Given the description of an element on the screen output the (x, y) to click on. 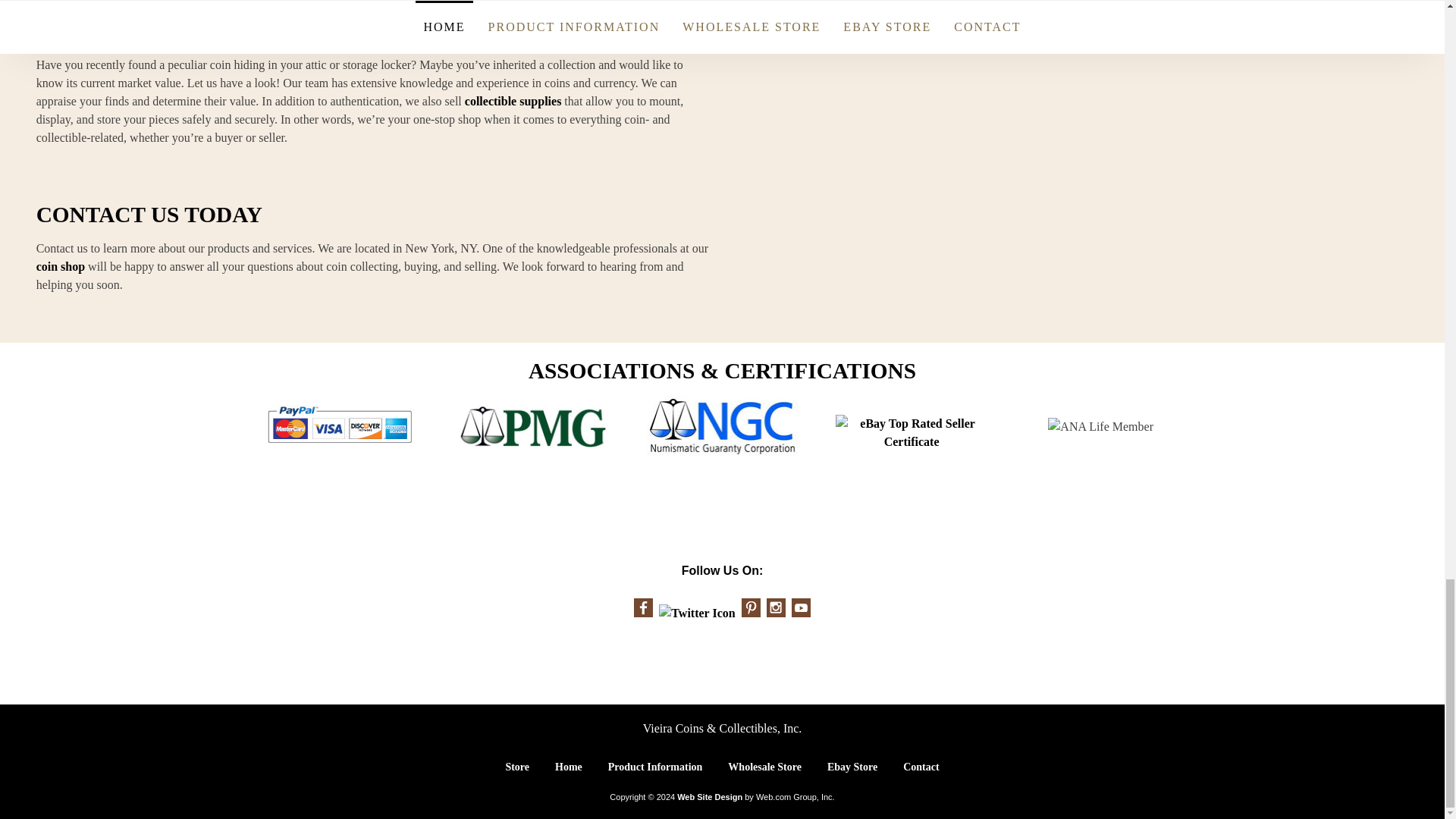
Twitter Icon (697, 613)
Numismatic Guaranty Corporation (721, 426)
Store (517, 766)
Web Site Design (709, 796)
coin shop (60, 266)
Home (568, 766)
Facebook Icon (642, 607)
PMG Icon (532, 426)
Contact (920, 766)
eBay Top Rated Seller Certificate (911, 432)
